Given the description of an element on the screen output the (x, y) to click on. 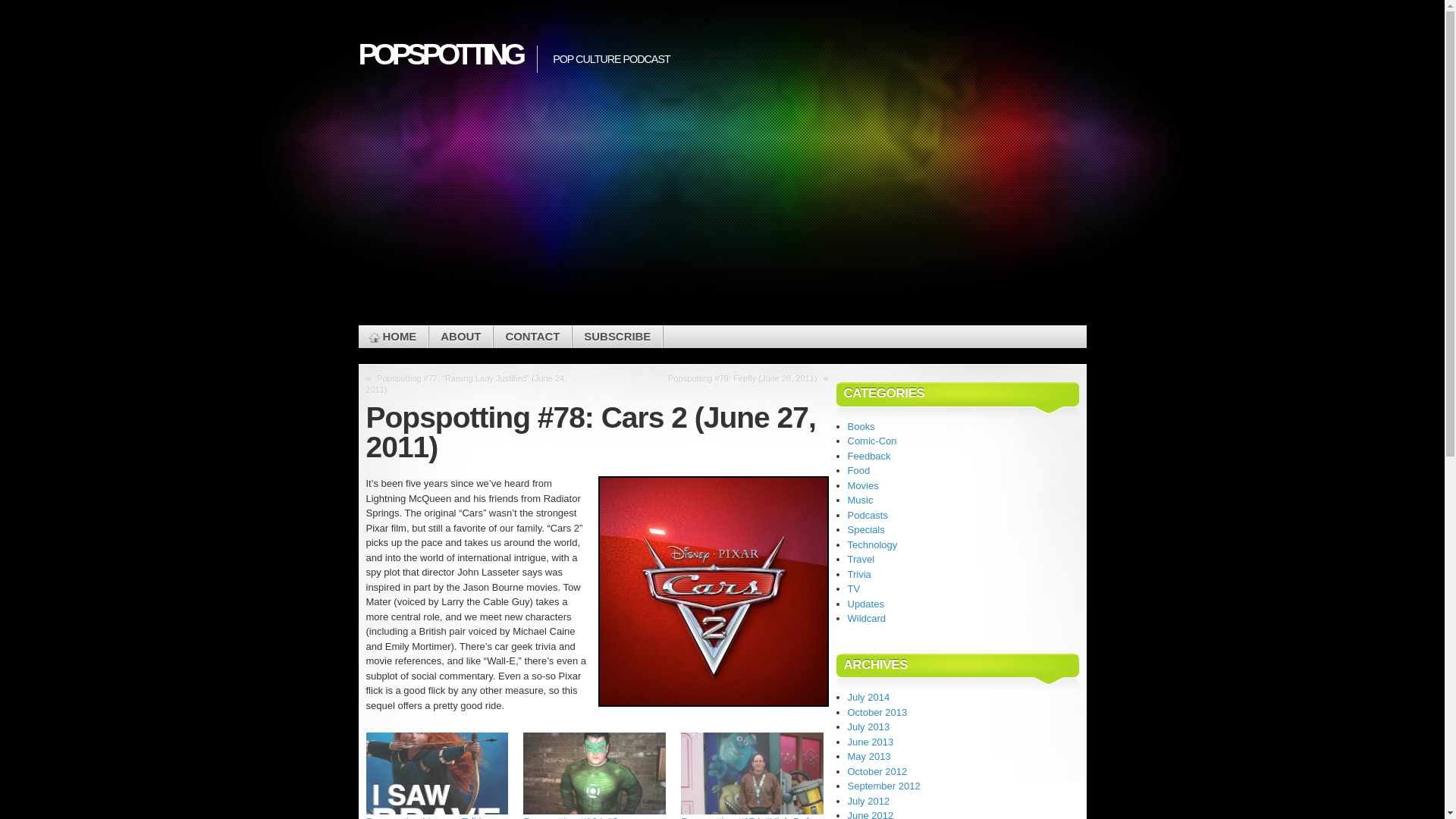
SUBSCRIBE (617, 336)
Movies (863, 484)
ABOUT (460, 336)
Feedback (869, 455)
CONTACT (531, 336)
Technology (872, 543)
Home Page (393, 336)
Food (858, 470)
Comic-Con (871, 440)
Trivia (858, 573)
